Given the description of an element on the screen output the (x, y) to click on. 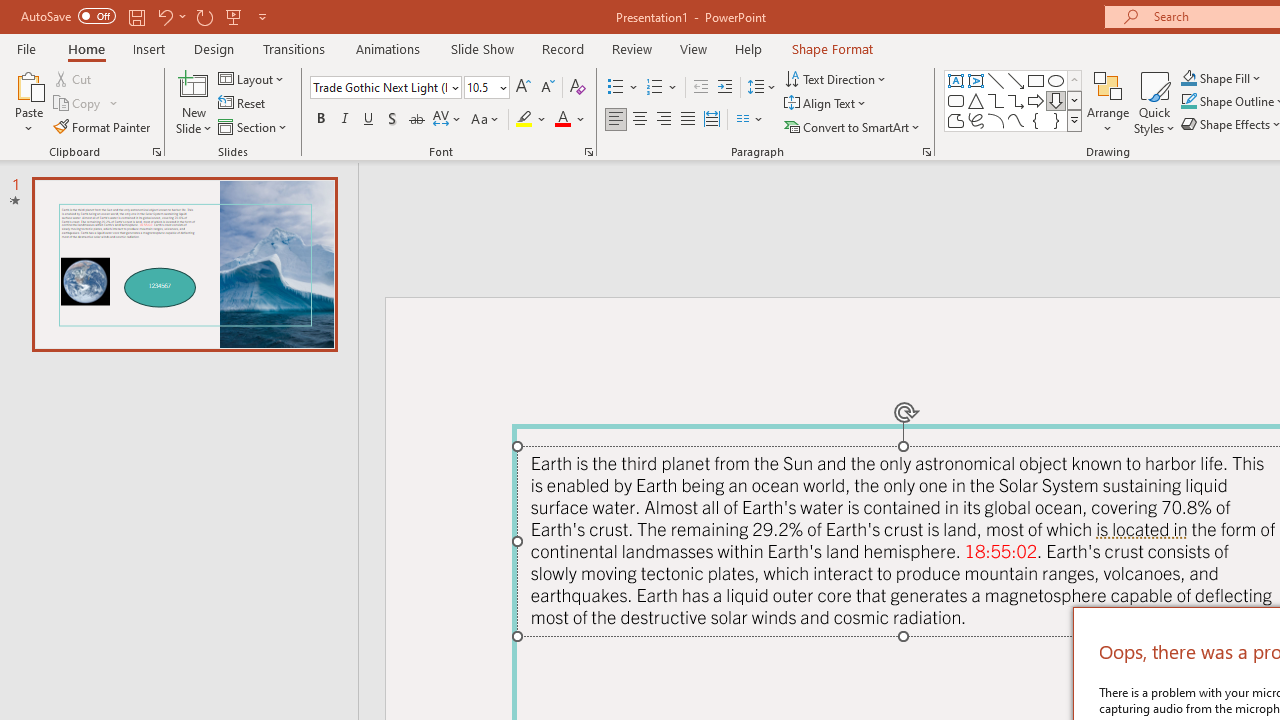
Shape Format (832, 48)
